Given the description of an element on the screen output the (x, y) to click on. 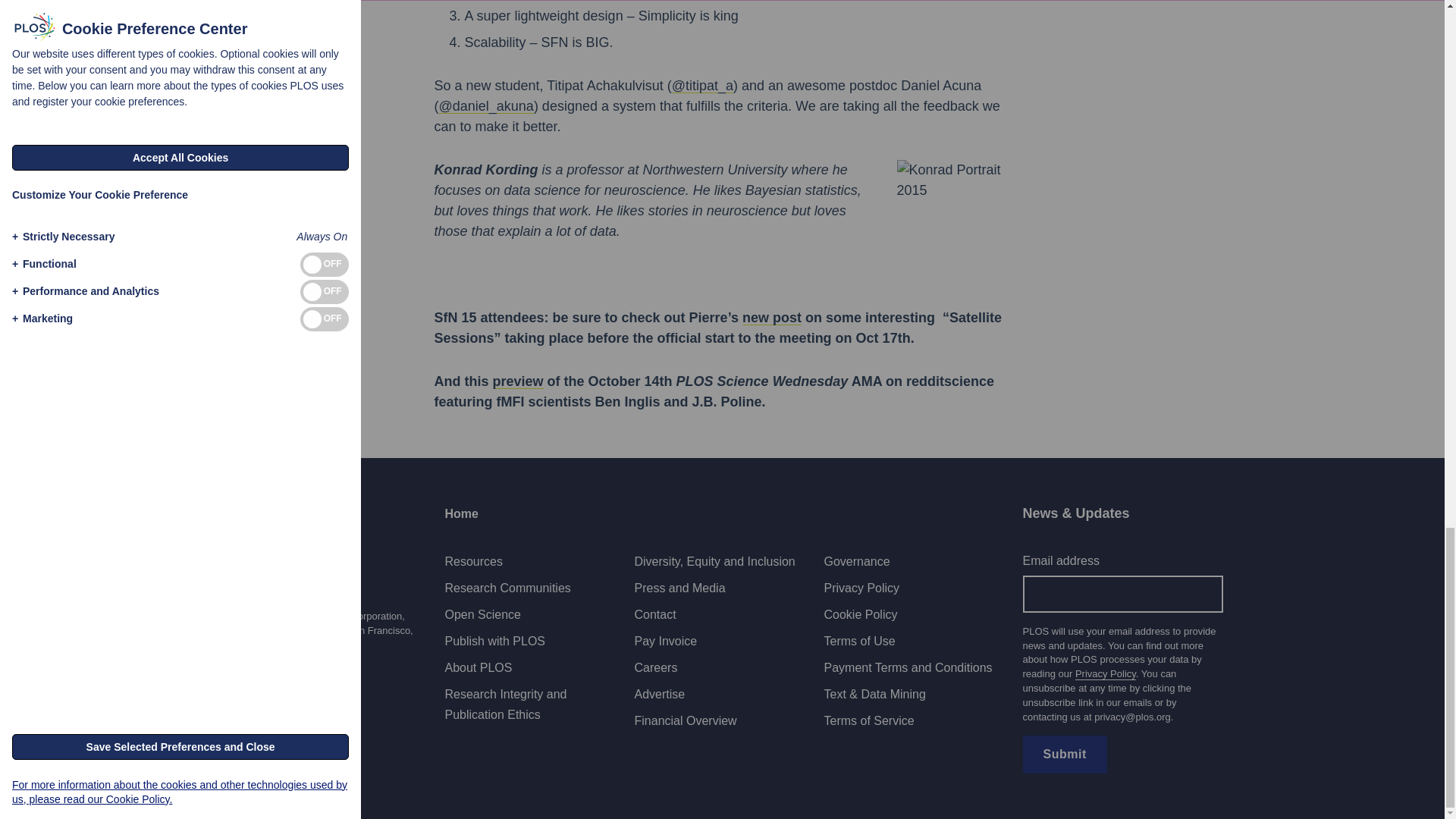
Submit (1064, 754)
